Given the description of an element on the screen output the (x, y) to click on. 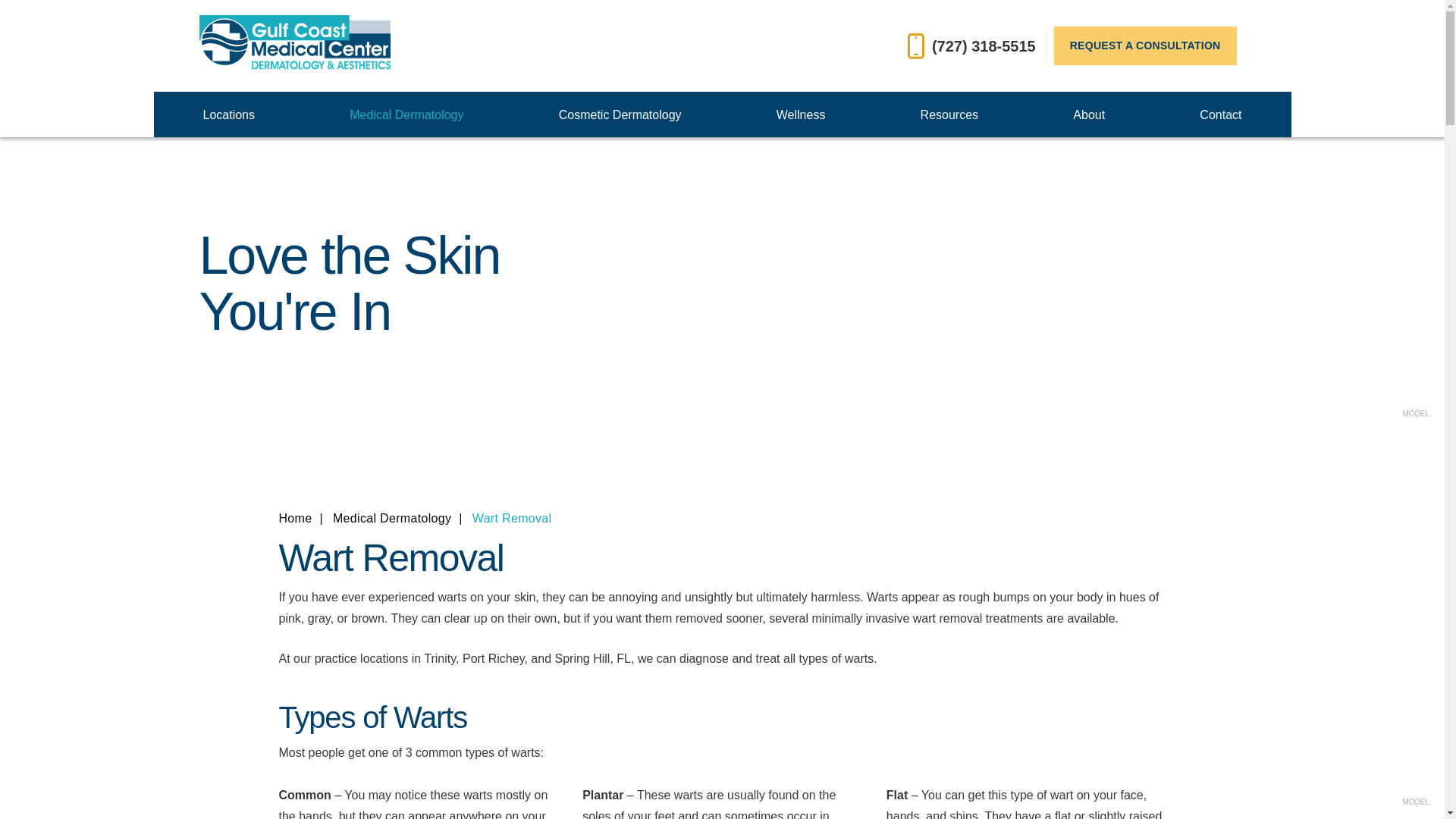
Cosmetic Dermatology (620, 114)
Wellness (800, 114)
Locations (229, 114)
REQUEST A CONSULTATION (1145, 45)
Medical Dermatology (406, 114)
Resources (949, 114)
